Given the description of an element on the screen output the (x, y) to click on. 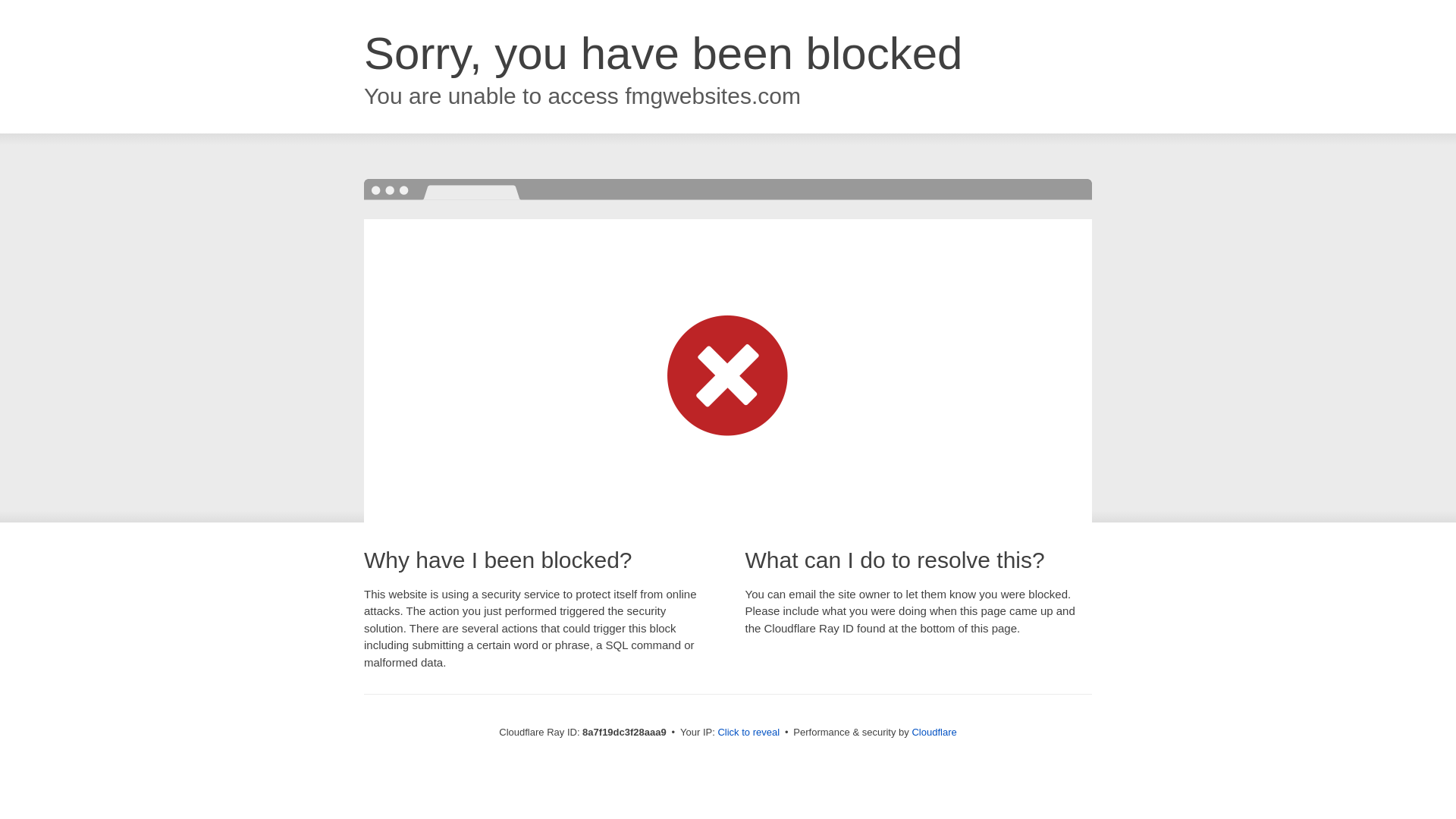
Click to reveal (747, 732)
Cloudflare (933, 731)
